Given the description of an element on the screen output the (x, y) to click on. 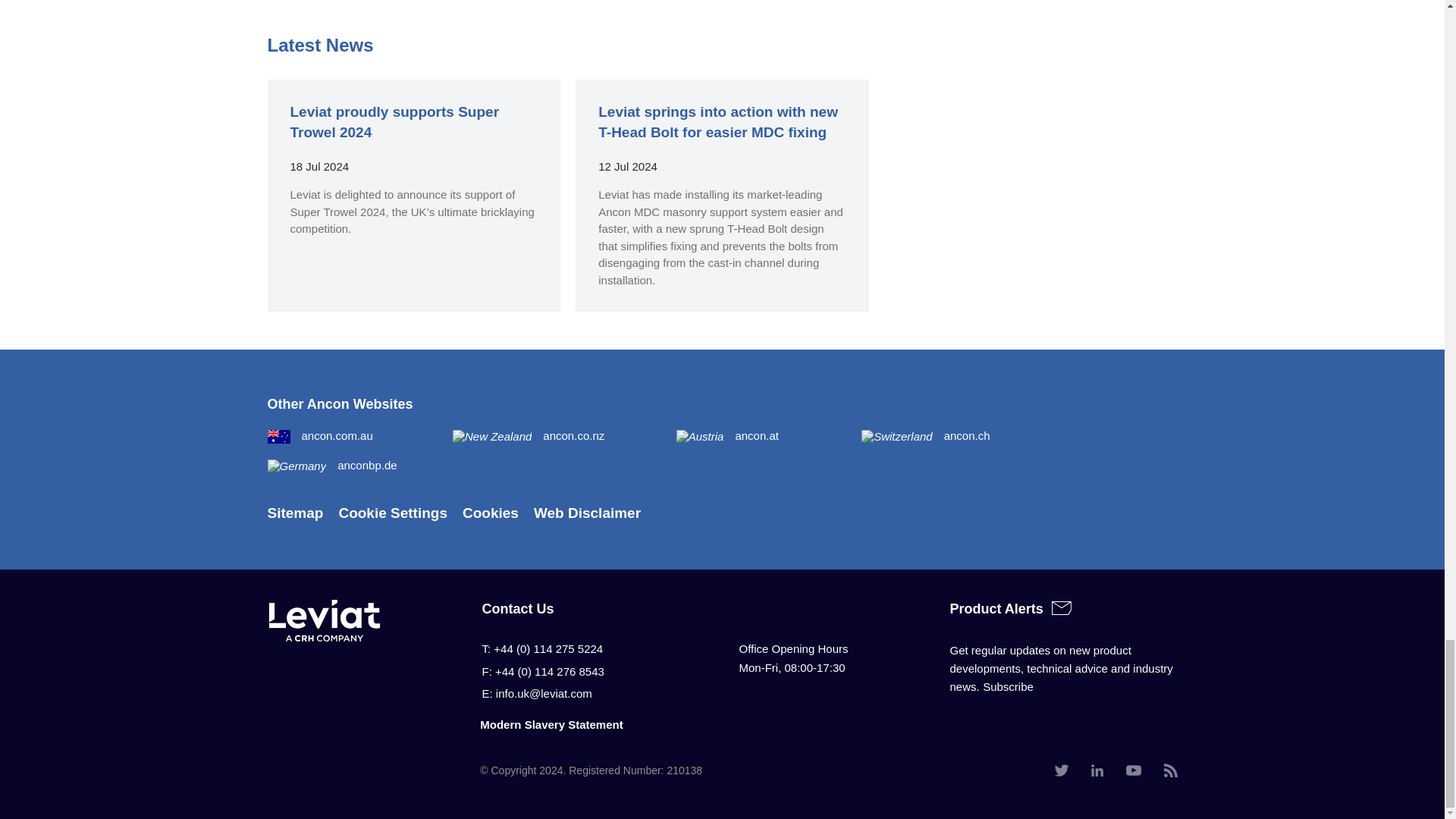
Latest News (319, 45)
Leviat proudly supports Super Trowel 2024 (394, 122)
